Given the description of an element on the screen output the (x, y) to click on. 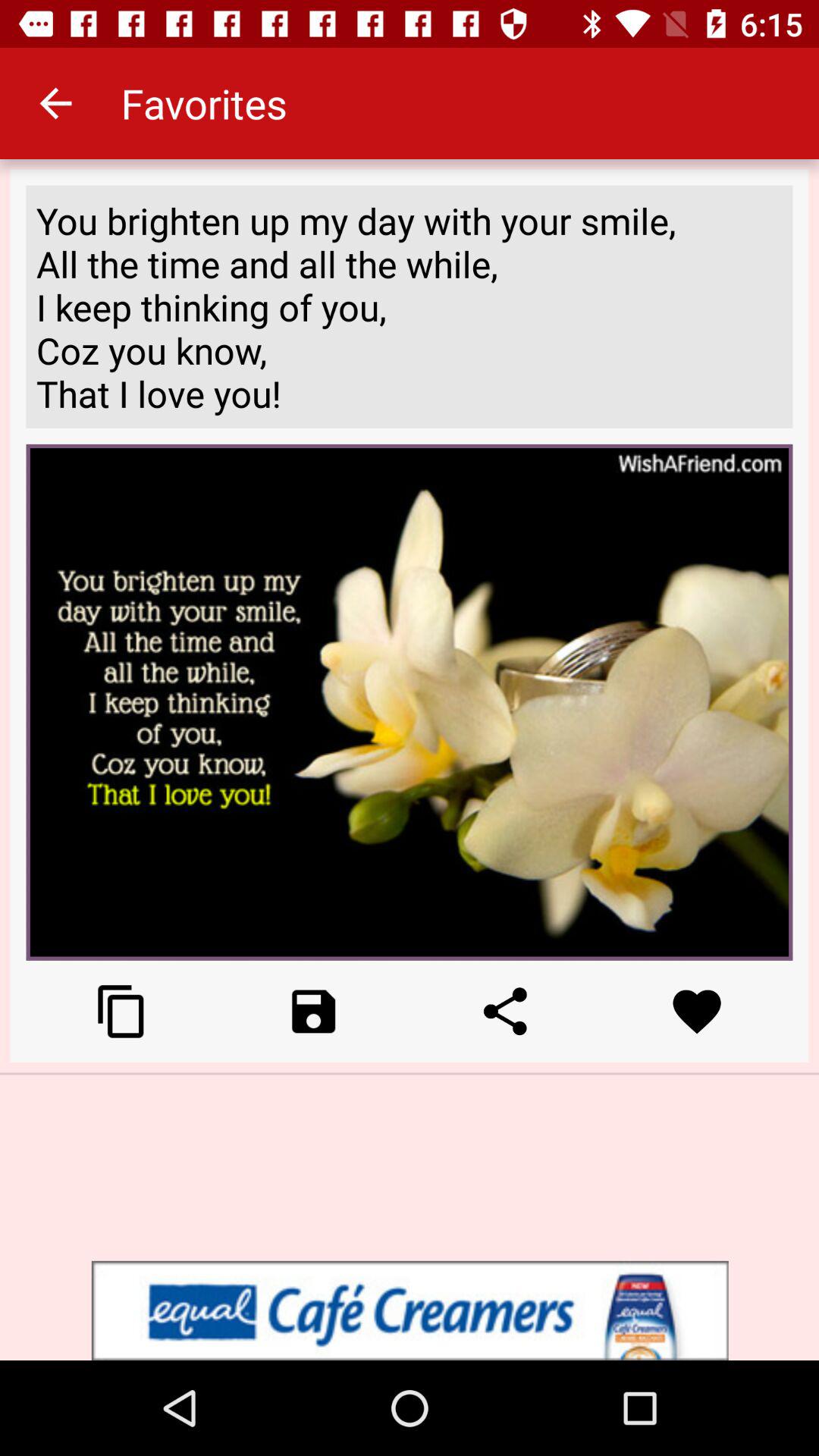
go to save option (313, 1011)
